Given the description of an element on the screen output the (x, y) to click on. 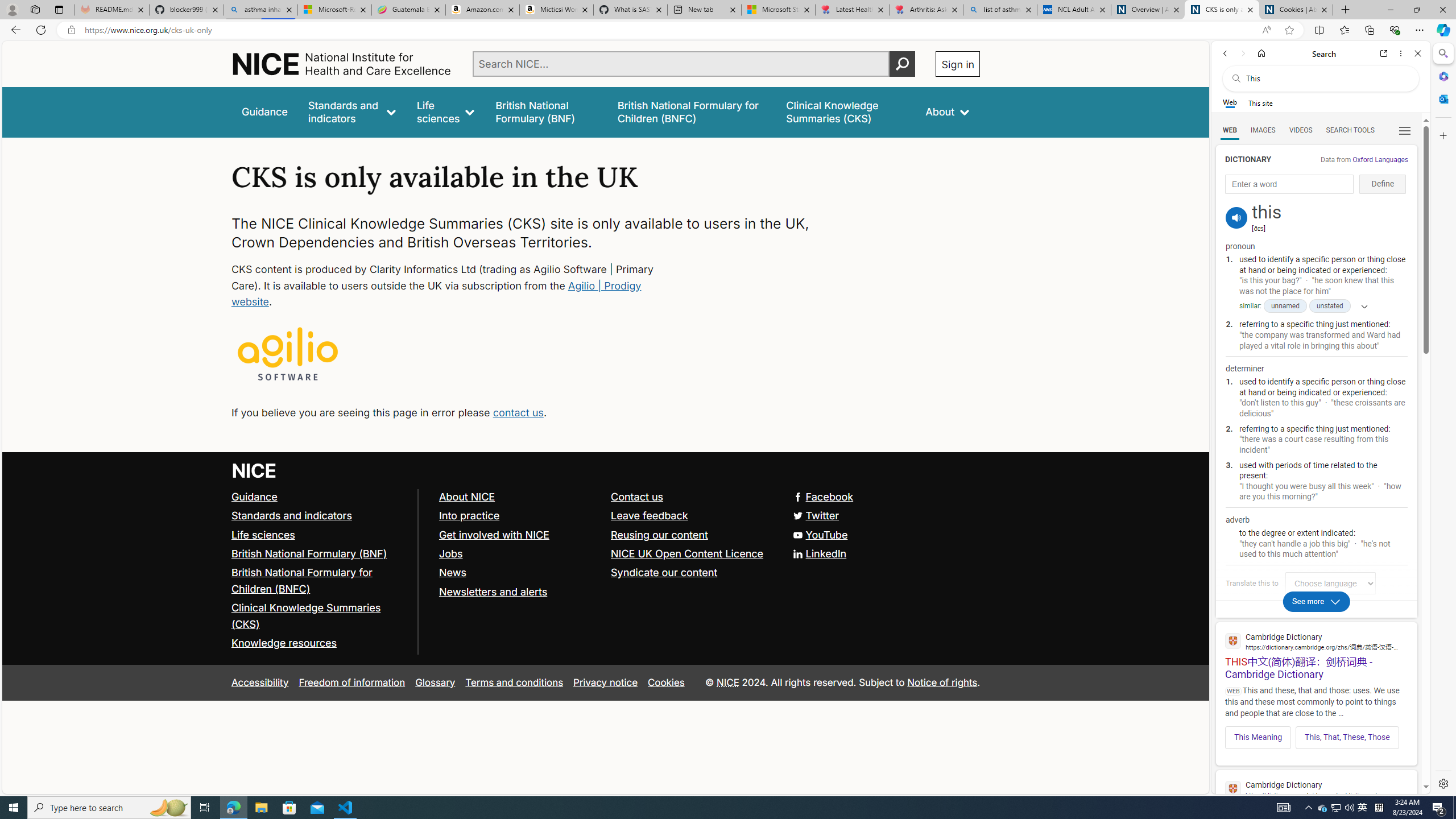
British National Formulary for Children (BNFC) (319, 580)
false (845, 111)
This, That, These, Those (1347, 737)
About NICE (518, 496)
Accessibility (259, 682)
pronounce (1236, 217)
Freedom of information (352, 682)
Cambridge Dictionary (1315, 788)
